Given the description of an element on the screen output the (x, y) to click on. 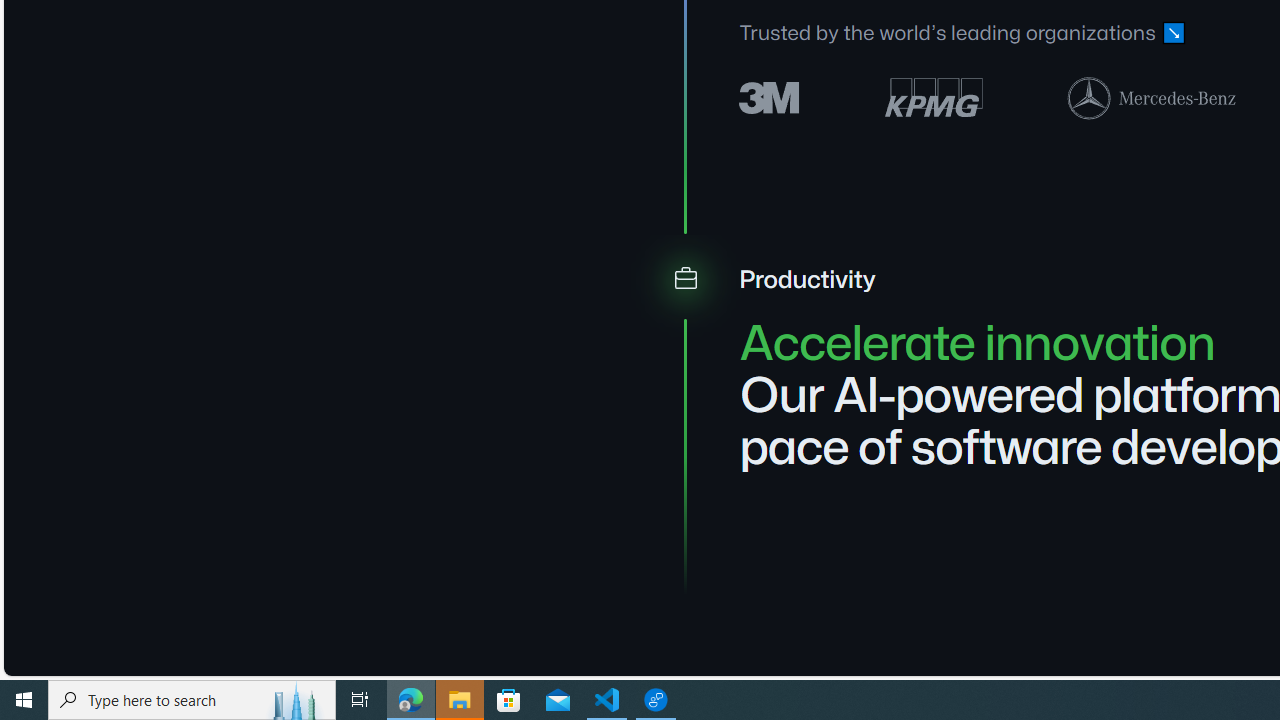
3M logo (769, 96)
KPMG logo (933, 97)
Mercedes-Benz logo (1151, 97)
